Given the description of an element on the screen output the (x, y) to click on. 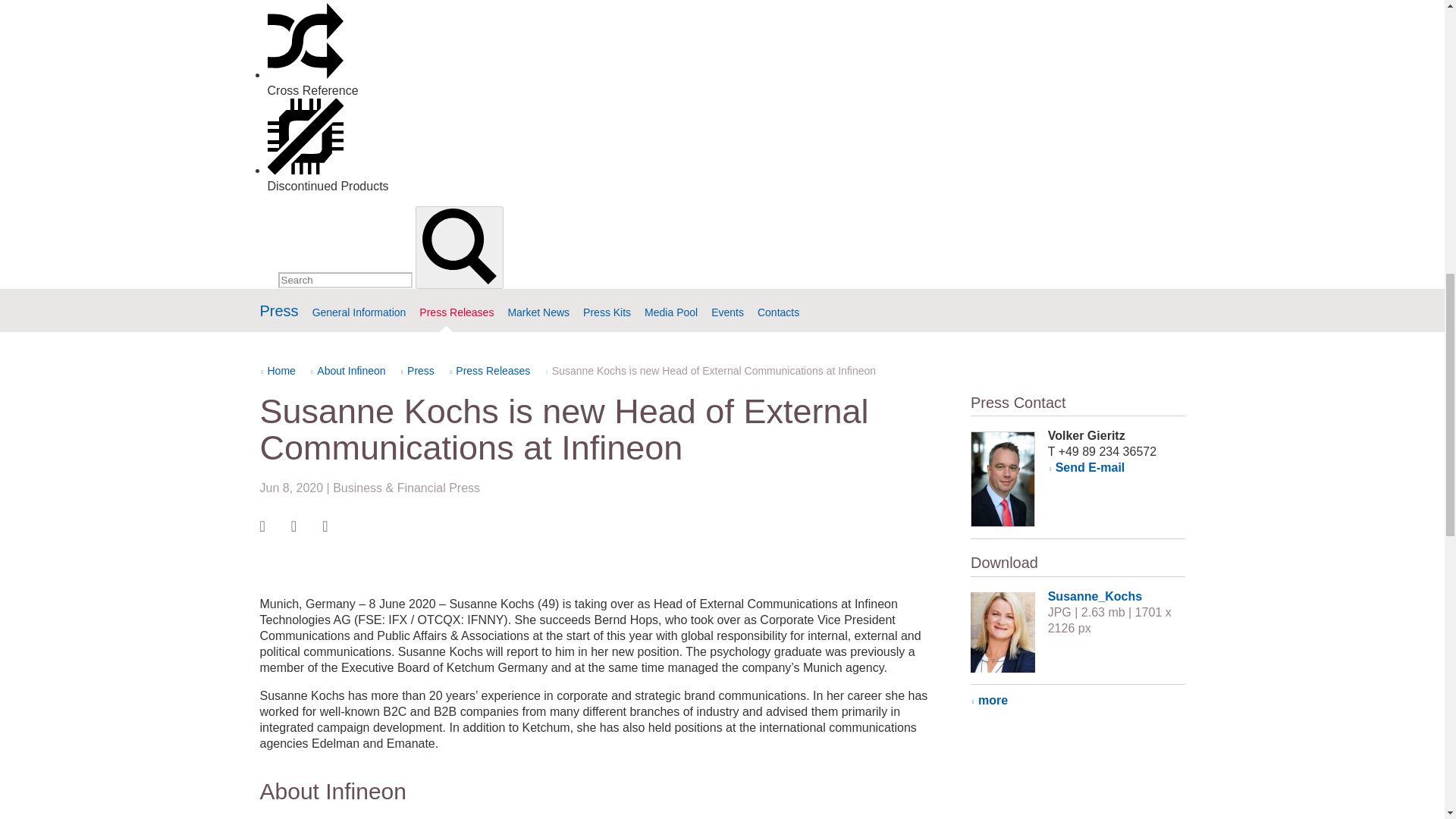
Share this page on LinkedIn (294, 525)
Share this page on Facebook (261, 525)
Share this page on Twitter (324, 525)
